Given the description of an element on the screen output the (x, y) to click on. 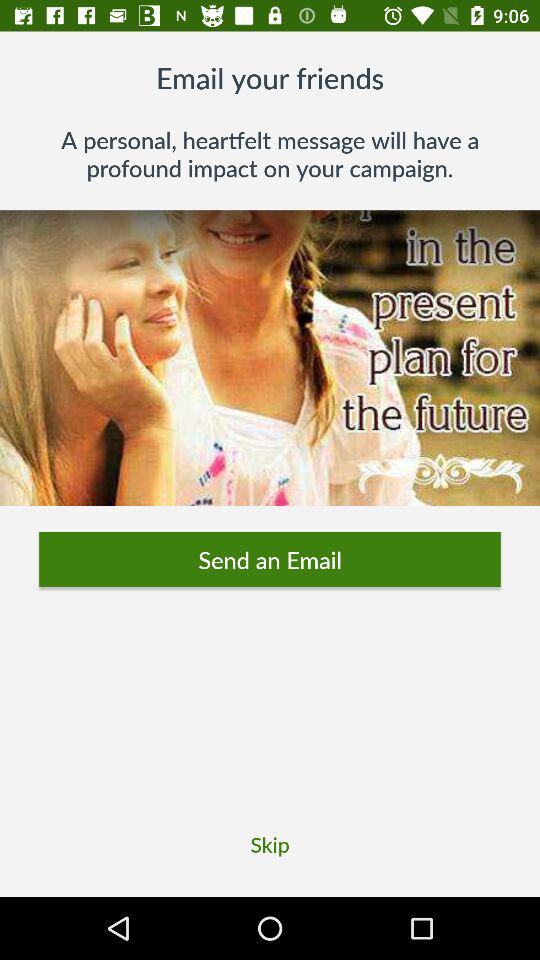
open send an email icon (269, 559)
